Given the description of an element on the screen output the (x, y) to click on. 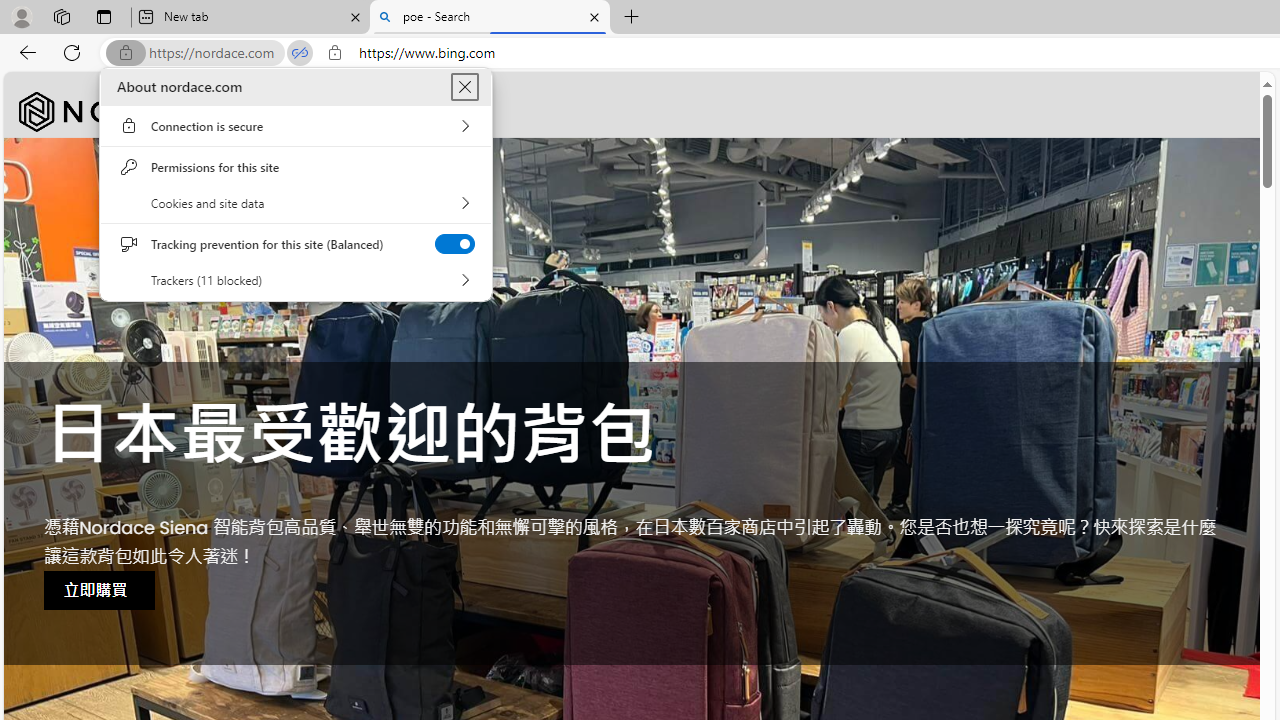
Cookies and site data (296, 203)
